Given the description of an element on the screen output the (x, y) to click on. 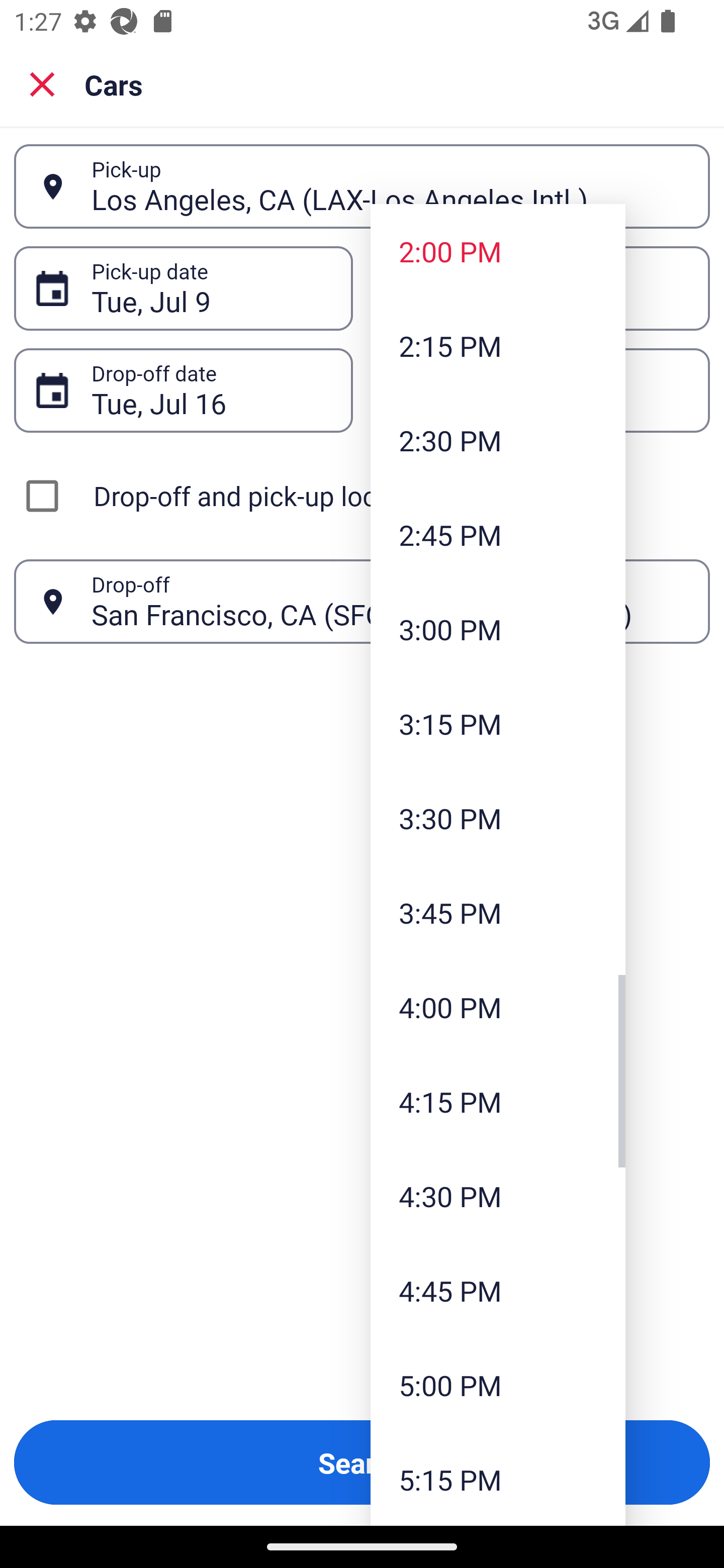
2:00 PM (497, 250)
2:15 PM (497, 345)
2:30 PM (497, 440)
2:45 PM (497, 534)
3:00 PM (497, 628)
3:15 PM (497, 723)
3:30 PM (497, 818)
3:45 PM (497, 912)
4:00 PM (497, 1006)
4:15 PM (497, 1101)
4:30 PM (497, 1196)
4:45 PM (497, 1290)
5:00 PM (497, 1384)
5:15 PM (497, 1478)
